Given the description of an element on the screen output the (x, y) to click on. 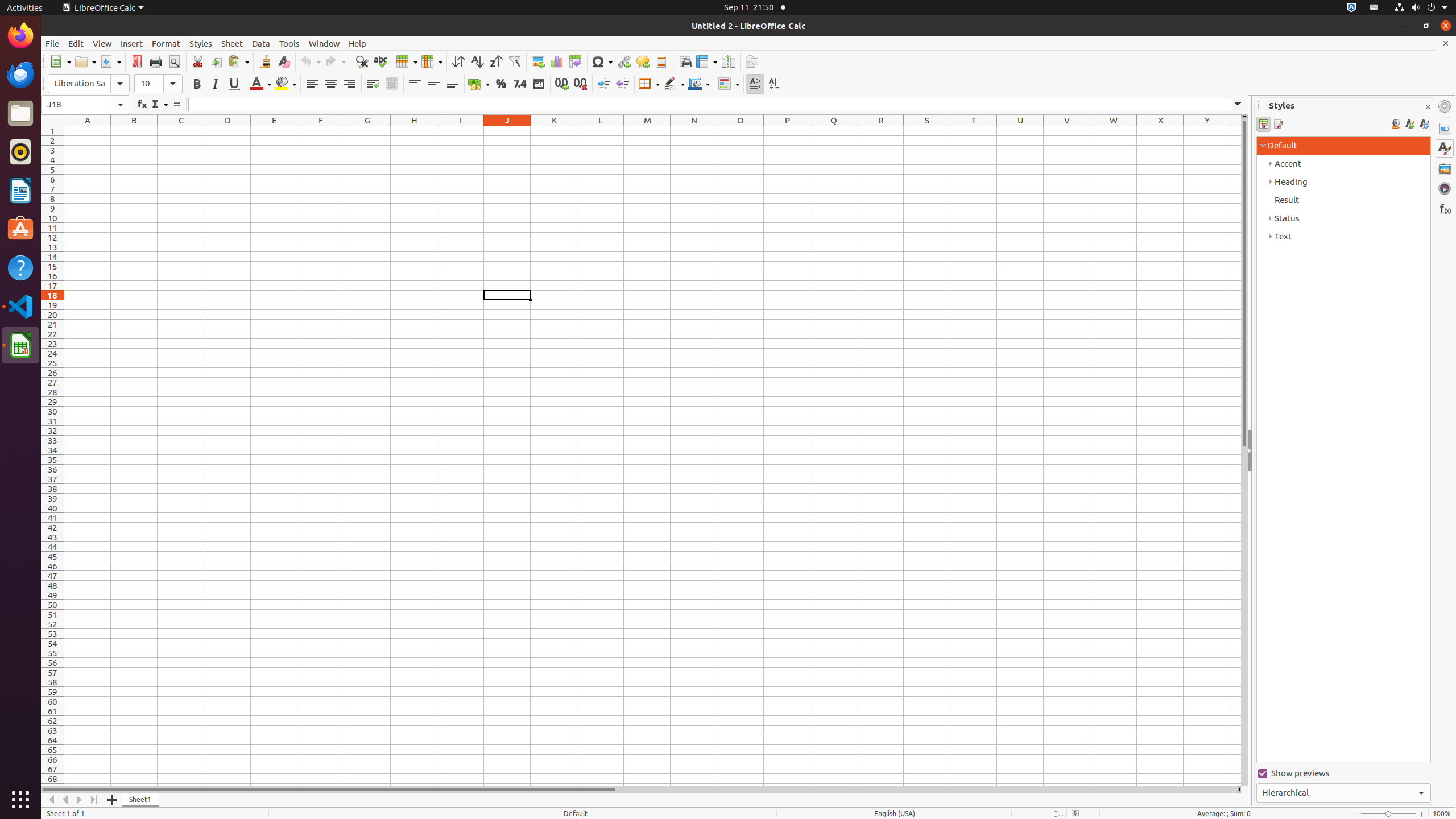
V1 Element type: table-cell (1066, 130)
Insert Element type: menu (131, 43)
Move Right Element type: push-button (79, 799)
Sort Descending Element type: push-button (495, 61)
Horizontal scroll bar Element type: scroll-bar (639, 789)
